Given the description of an element on the screen output the (x, y) to click on. 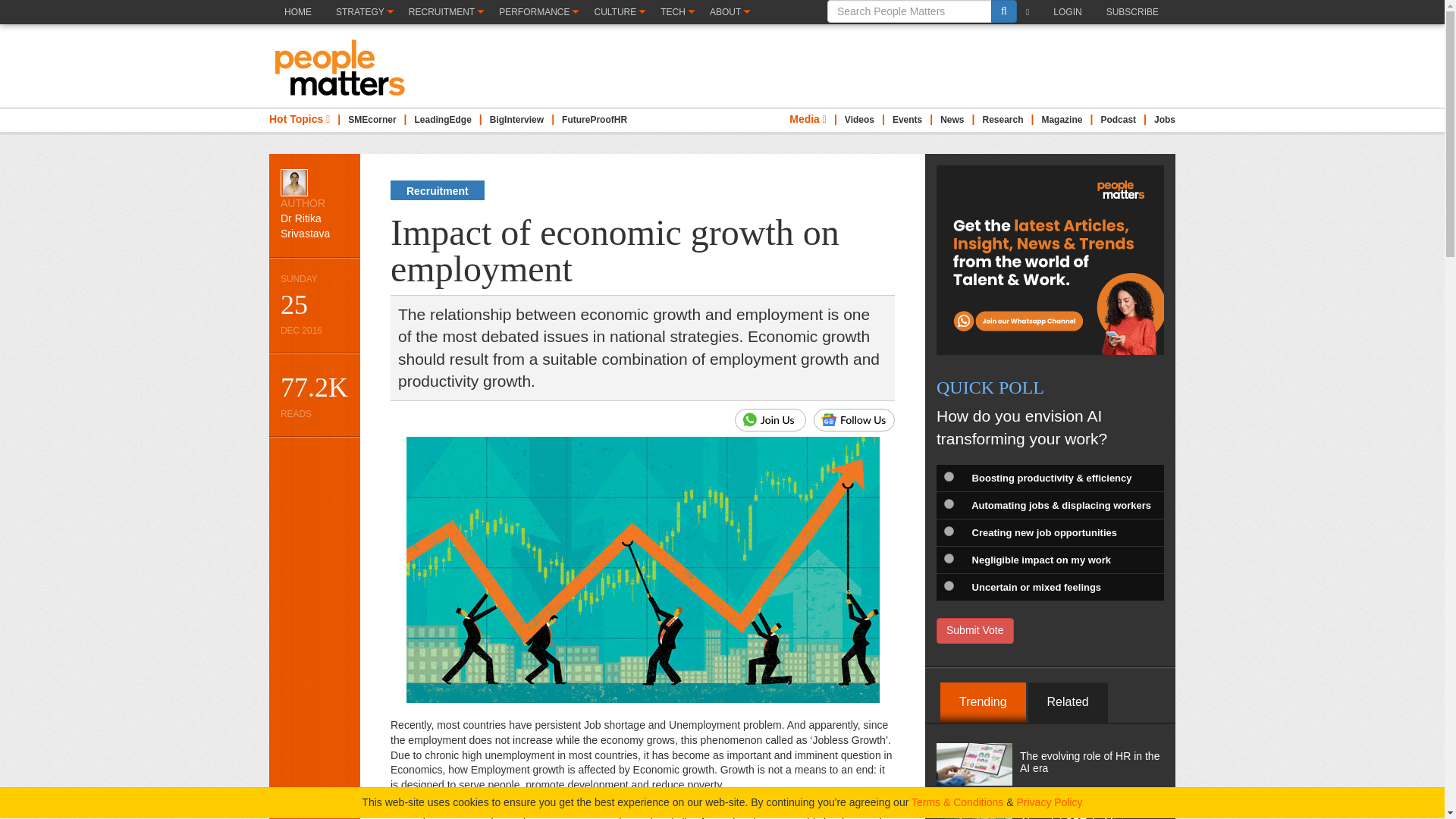
STRATEGY (363, 12)
323 (948, 558)
HOME (297, 24)
322 (948, 531)
321 (948, 503)
324 (948, 585)
320 (948, 476)
RECRUITMENT (445, 12)
